Given the description of an element on the screen output the (x, y) to click on. 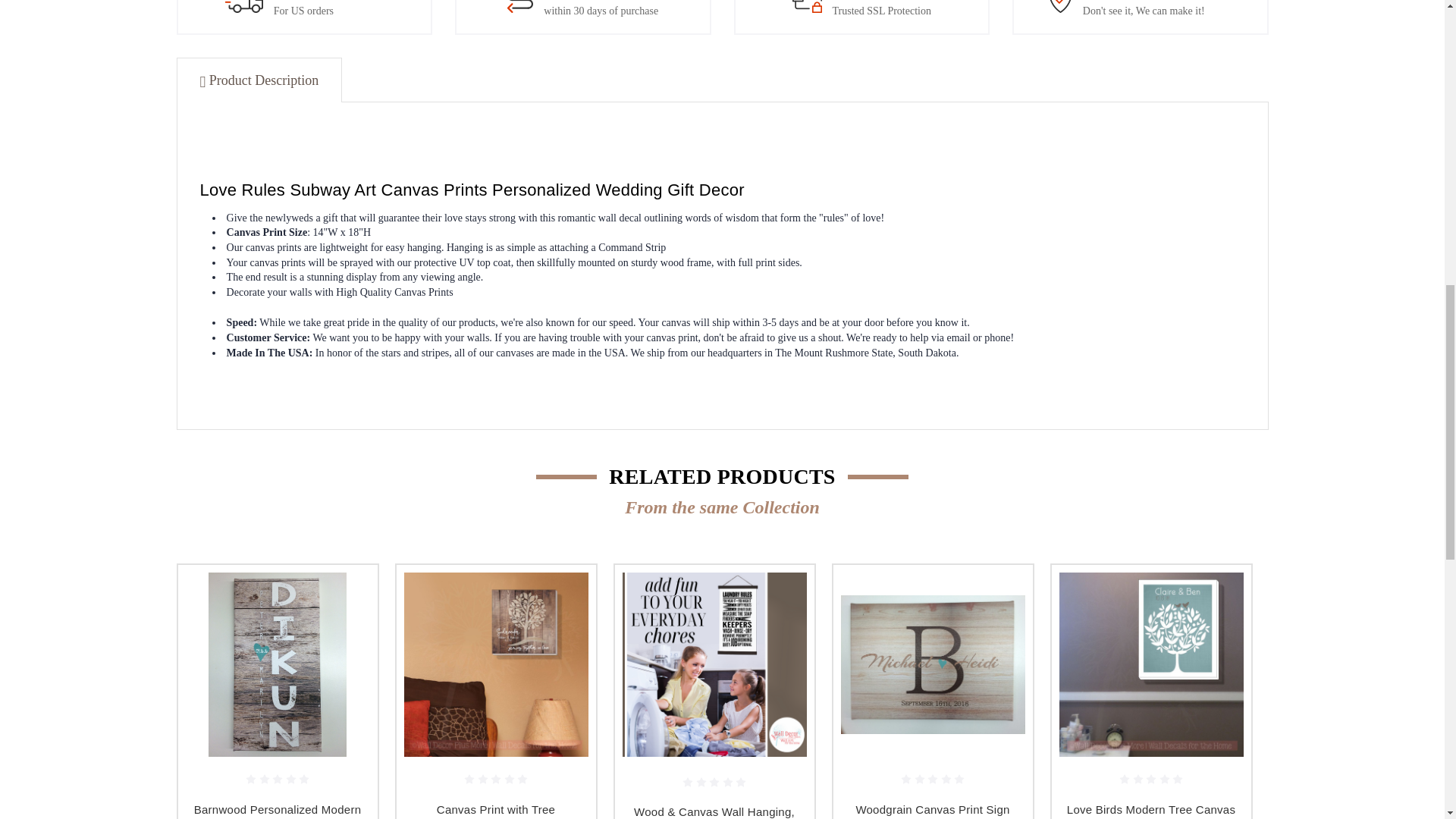
Safe Payments (807, 6)
Returns Accepted (519, 6)
Custom Products Available (1059, 6)
